Given the description of an element on the screen output the (x, y) to click on. 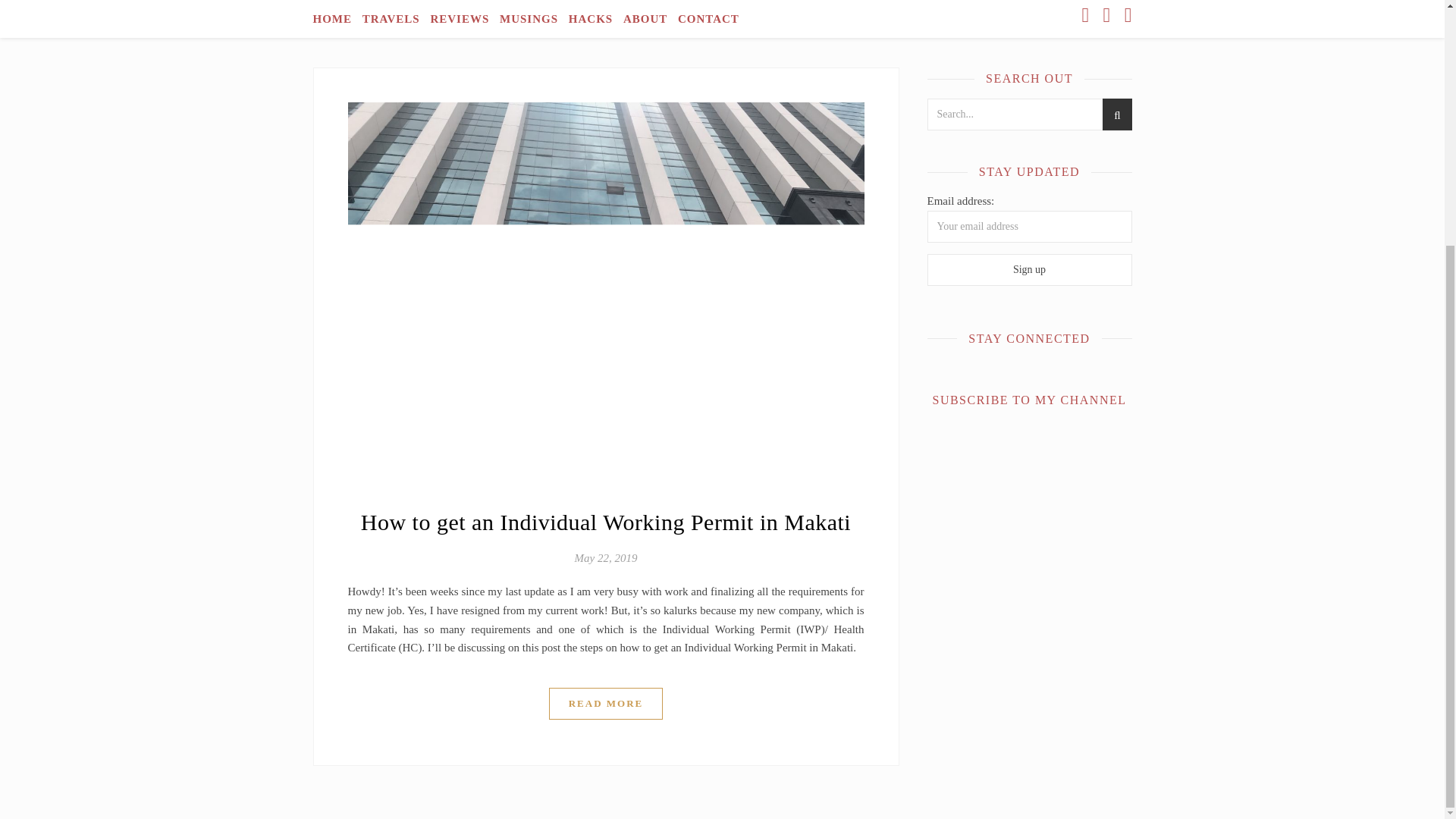
How to get an Individual Working Permit in Makati (605, 521)
Sign up (1028, 269)
READ MORE (605, 703)
Sign up (1028, 269)
